Given the description of an element on the screen output the (x, y) to click on. 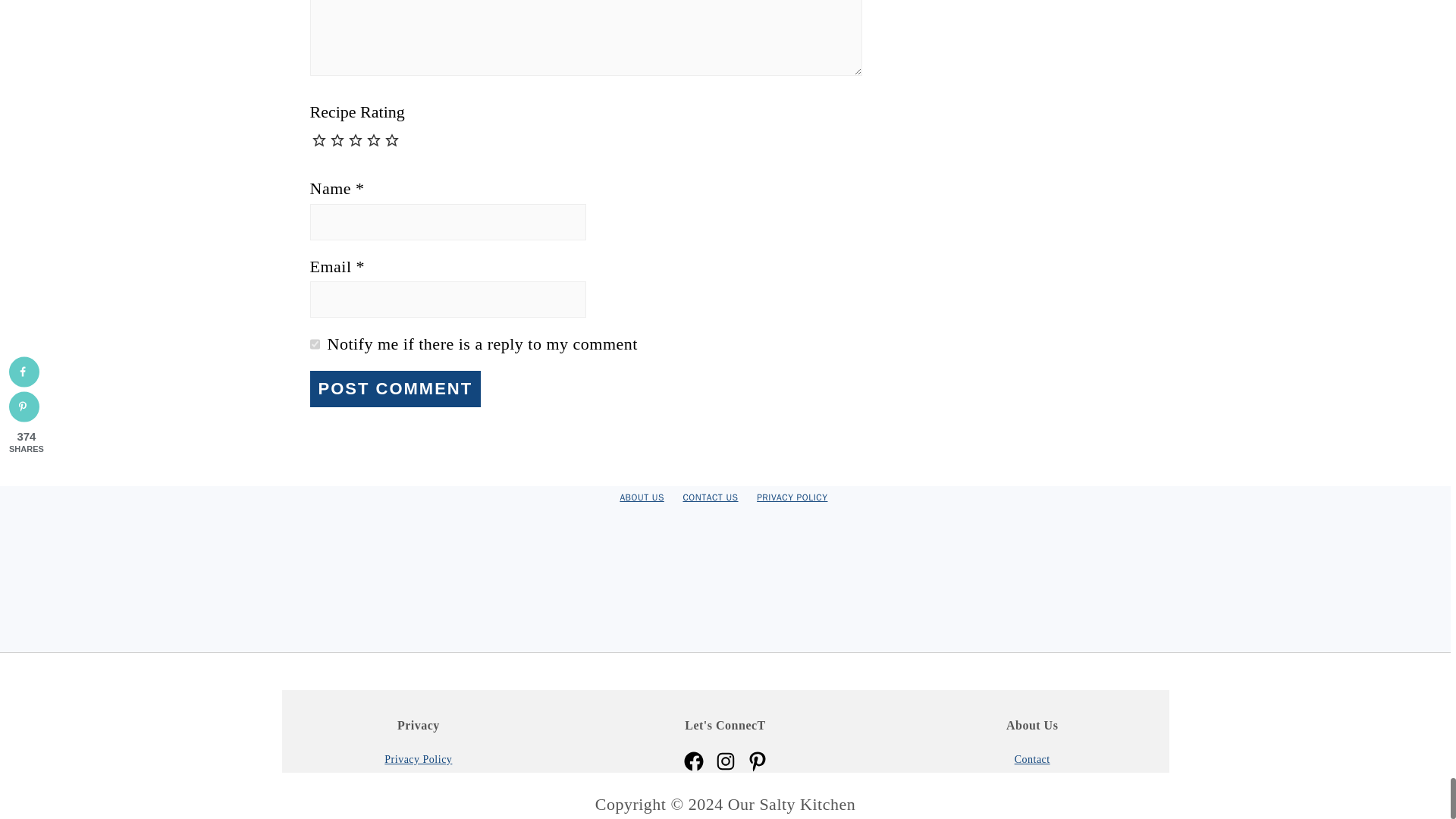
Post Comment (394, 389)
